Given the description of an element on the screen output the (x, y) to click on. 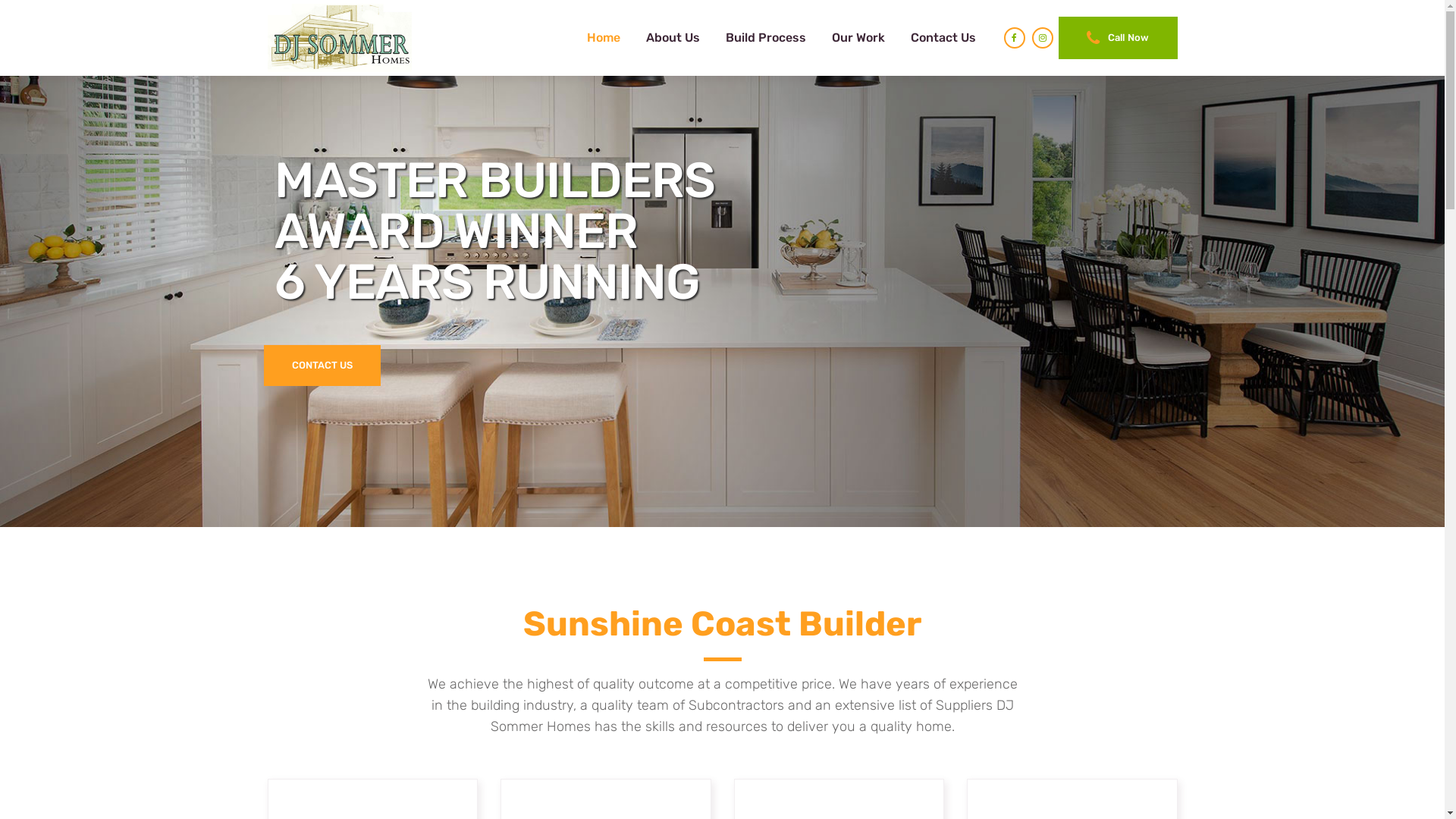
Call Now Element type: text (1117, 37)
Contact Us Element type: text (942, 37)
CONTACT US Element type: text (321, 365)
Our Work Element type: text (858, 37)
About Us Element type: text (672, 37)
Home Element type: text (603, 37)
Build Process Element type: text (765, 37)
